Given the description of an element on the screen output the (x, y) to click on. 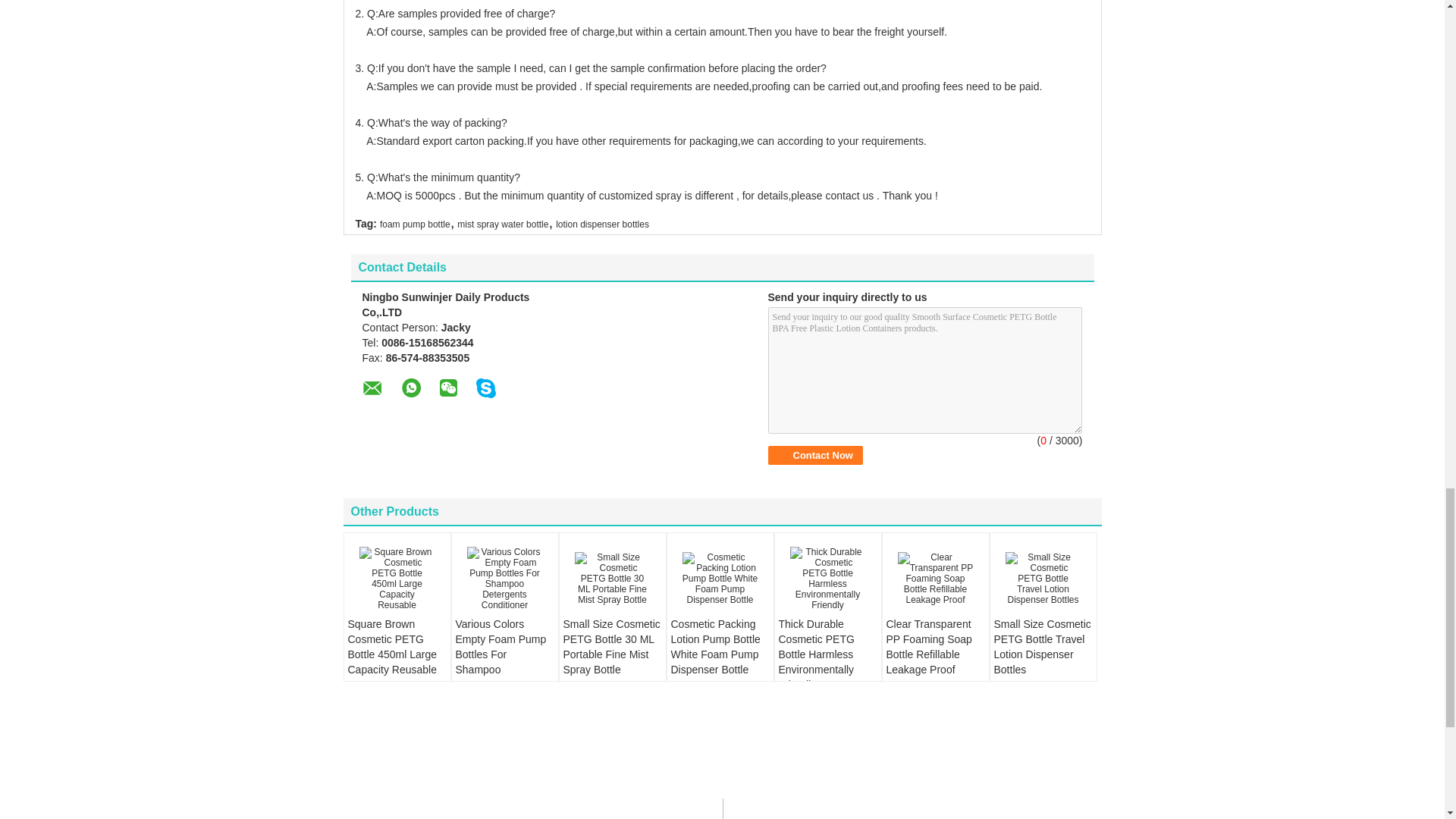
Contact Now (814, 455)
foam pump bottle (414, 224)
